Given the description of an element on the screen output the (x, y) to click on. 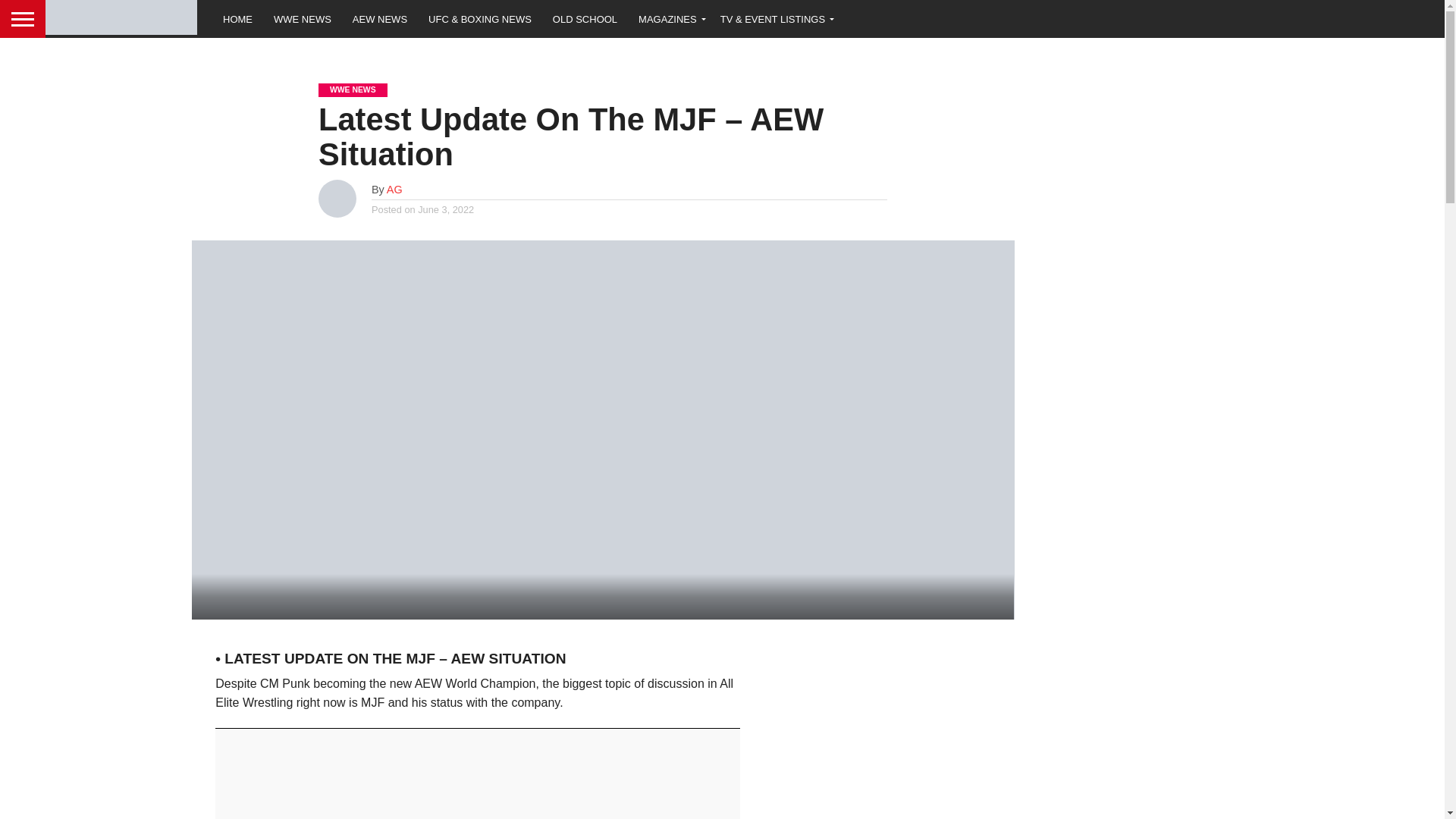
WWE NEWS (302, 18)
HOME (237, 18)
MAGAZINES (668, 18)
OLD SCHOOL (584, 18)
AEW NEWS (379, 18)
Posts by AG (395, 189)
